Given the description of an element on the screen output the (x, y) to click on. 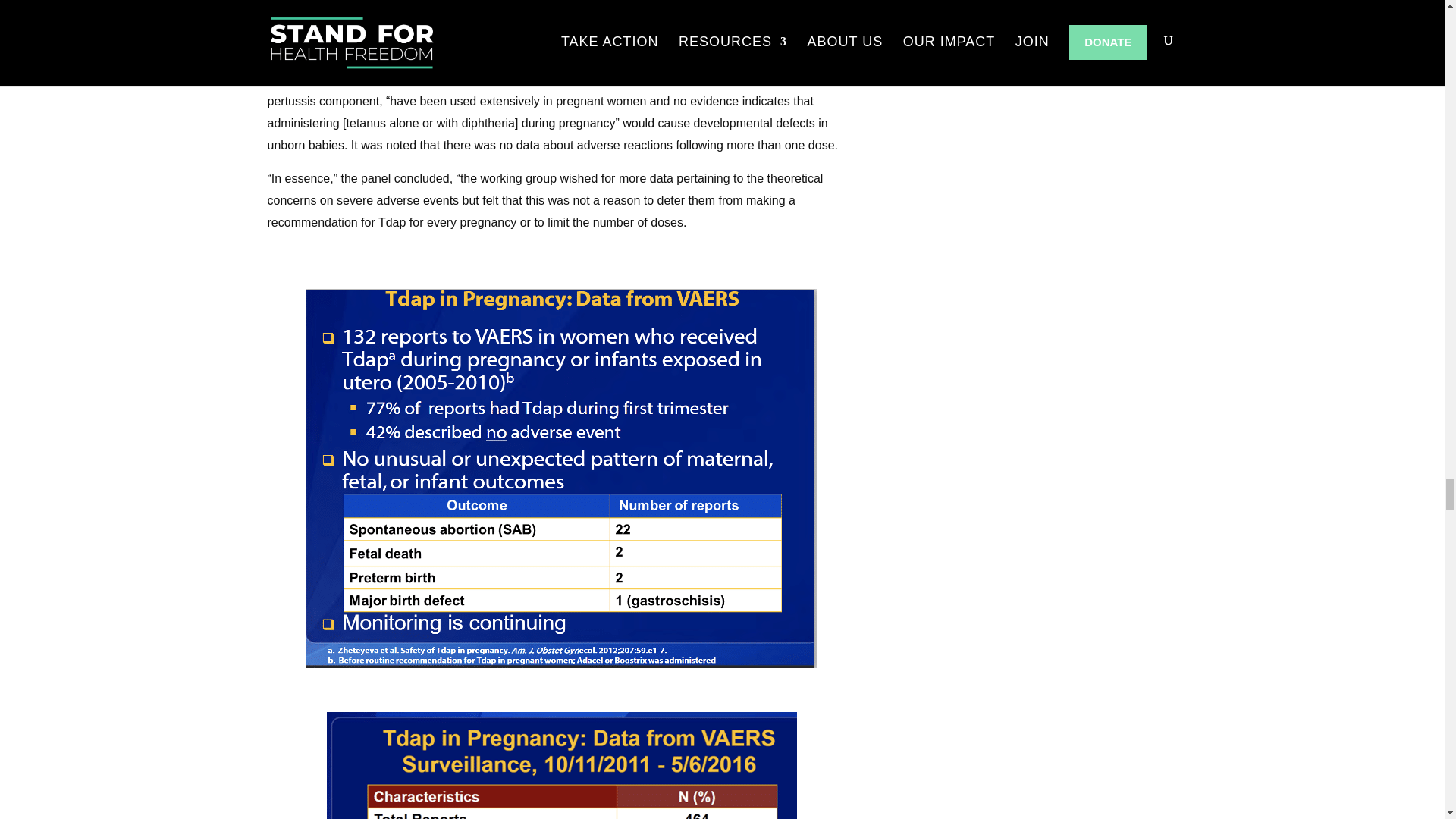
Screenshot 2023-07-19 at 10.19.55 PM (561, 764)
